Given the description of an element on the screen output the (x, y) to click on. 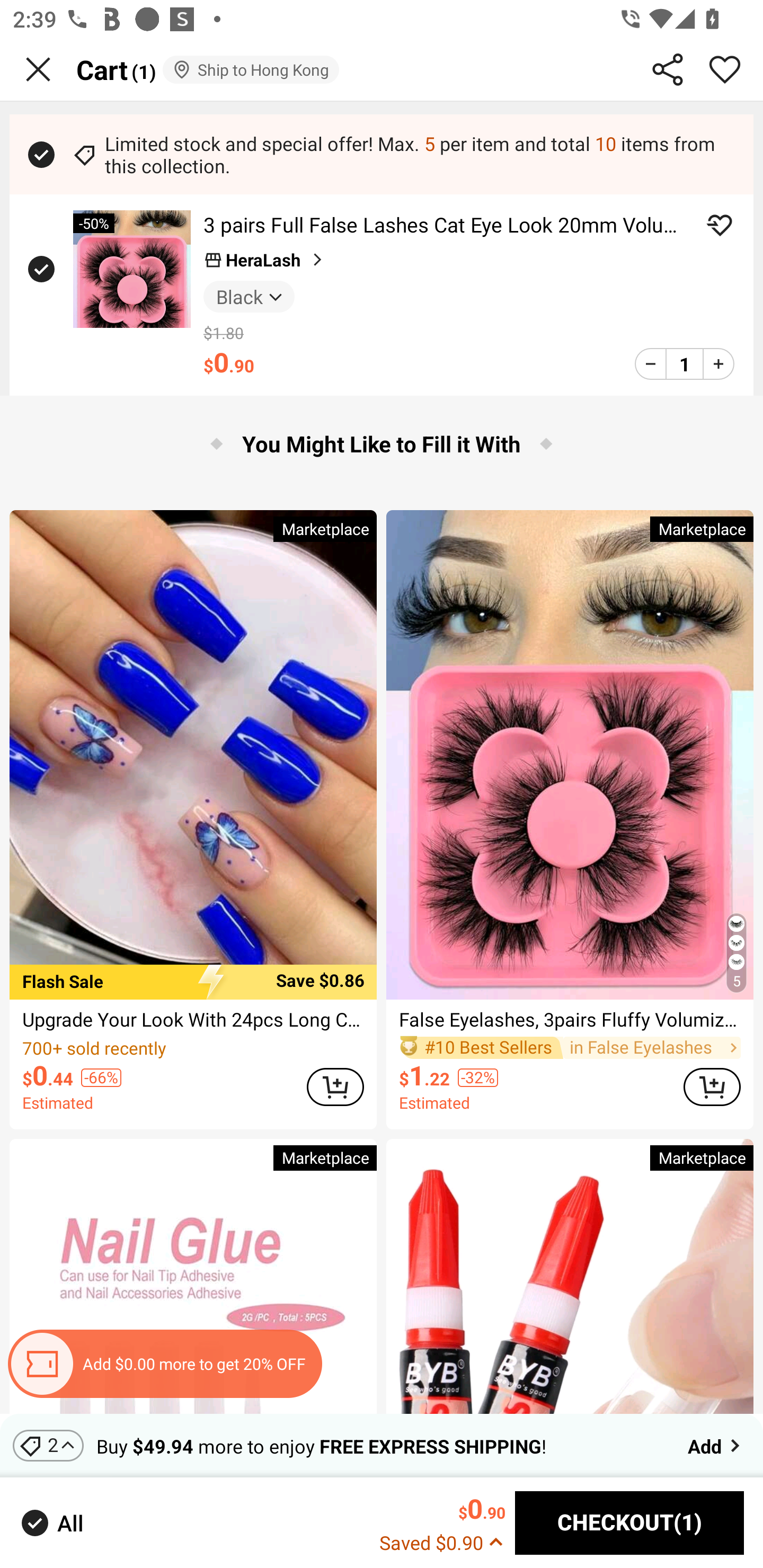
BACK Cart (1) Ship to Hong Kong Share Wishlist (381, 69)
BACK (38, 68)
Wishlist (724, 68)
Share (667, 68)
Ship to Hong Kong (250, 68)
ADD TO WISHLIST (719, 224)
HeraLash (264, 259)
Black (248, 296)
product quantity minus 1 (650, 363)
1 edit product quantity (684, 363)
product quantity add 1 (718, 363)
#10 Best Sellers in False Eyelashes (569, 1046)
ADD TO CART (334, 1086)
ADD TO CART (711, 1086)
Coupon Alert Add $0.00 more to get 20% OFF (164, 1363)
2 (48, 1445)
Add (715, 1445)
CHECKOUT(1) (629, 1523)
All (51, 1522)
